Given the description of an element on the screen output the (x, y) to click on. 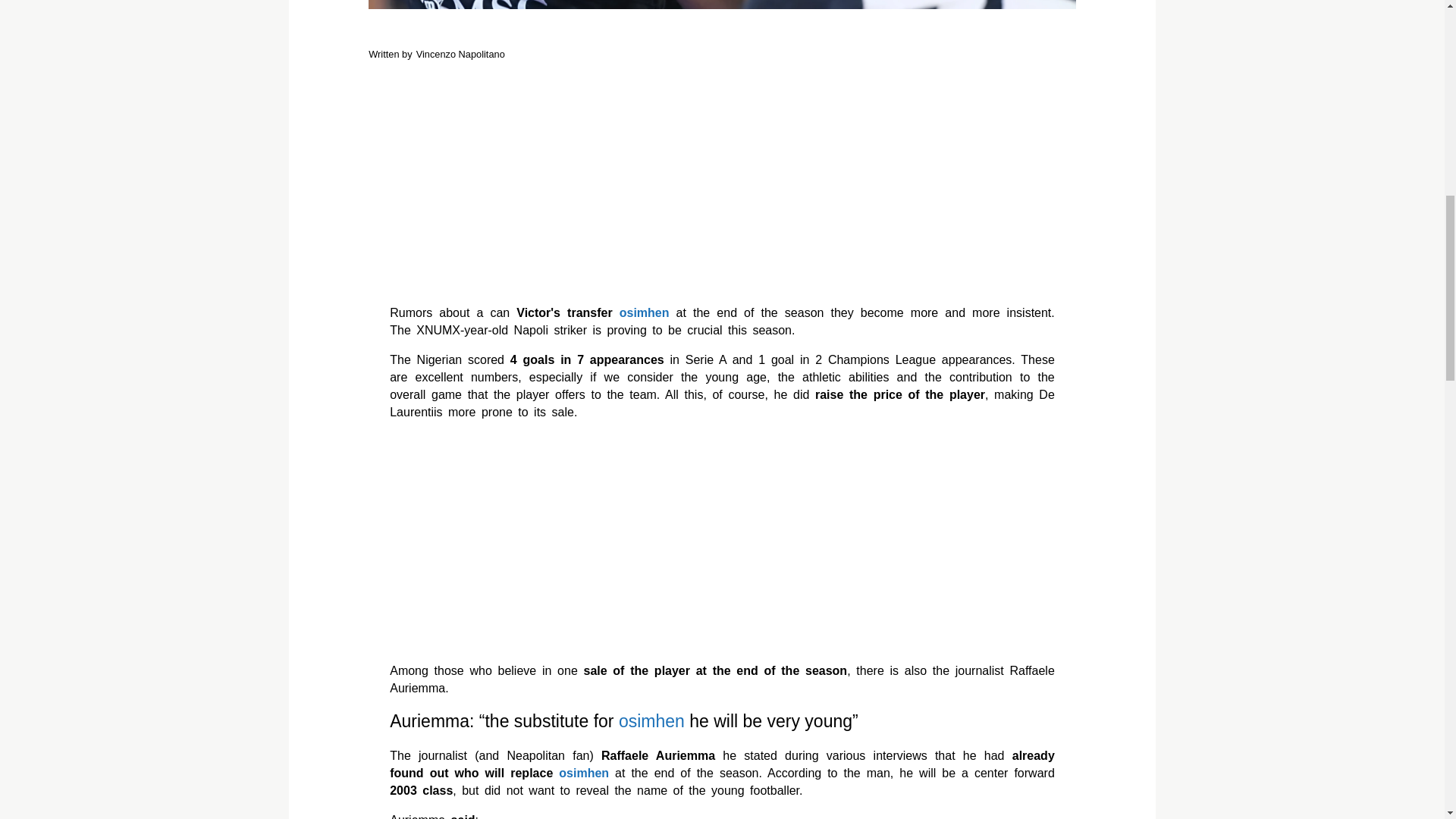
osimhen (651, 721)
osimhen (644, 312)
osimhen (583, 773)
